Given the description of an element on the screen output the (x, y) to click on. 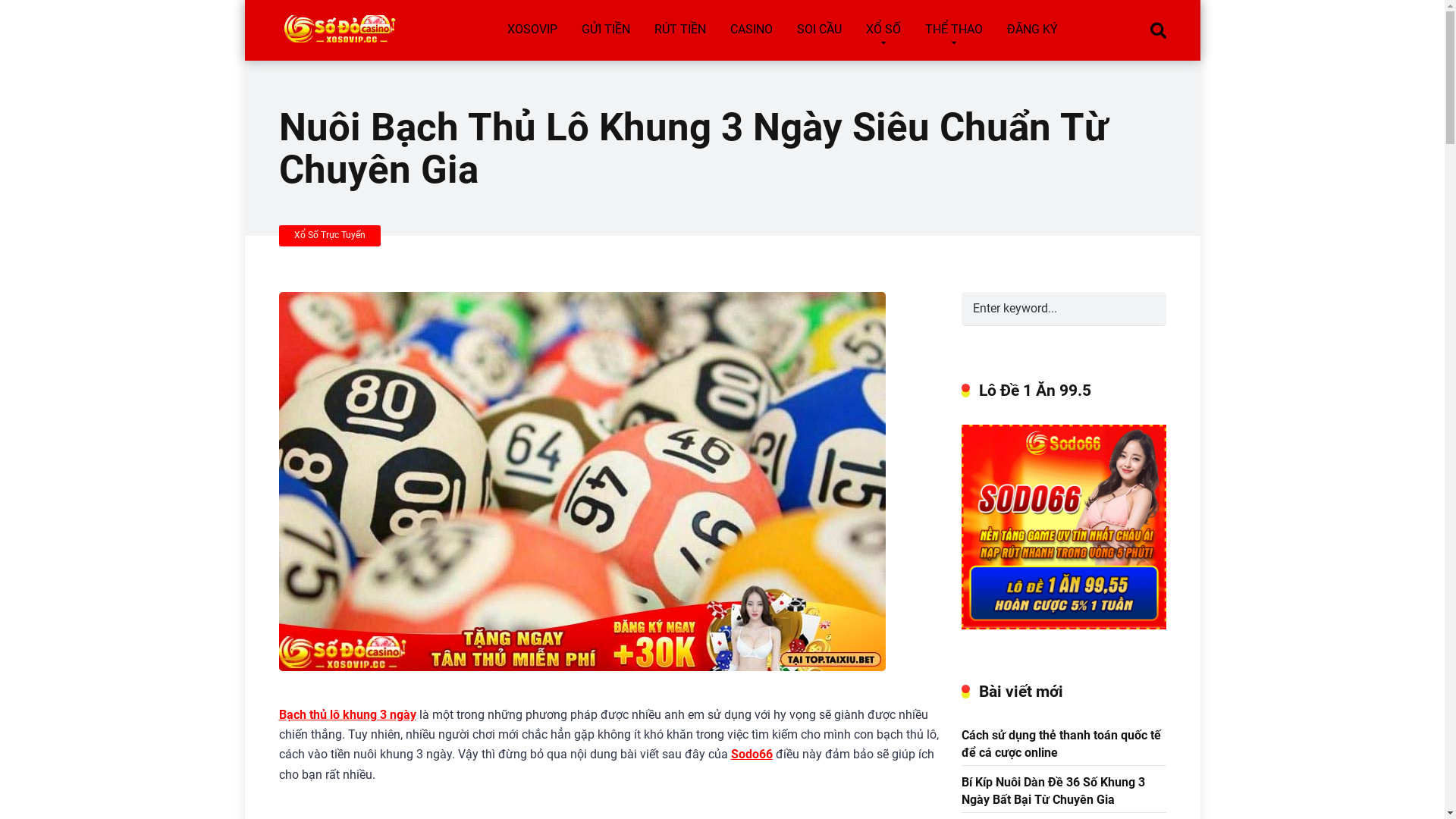
XOSOVIP Element type: text (531, 30)
XOSOVIP.CC Element type: hover (337, 22)
Sodo66 Element type: text (751, 753)
CASINO Element type: text (750, 30)
